Given the description of an element on the screen output the (x, y) to click on. 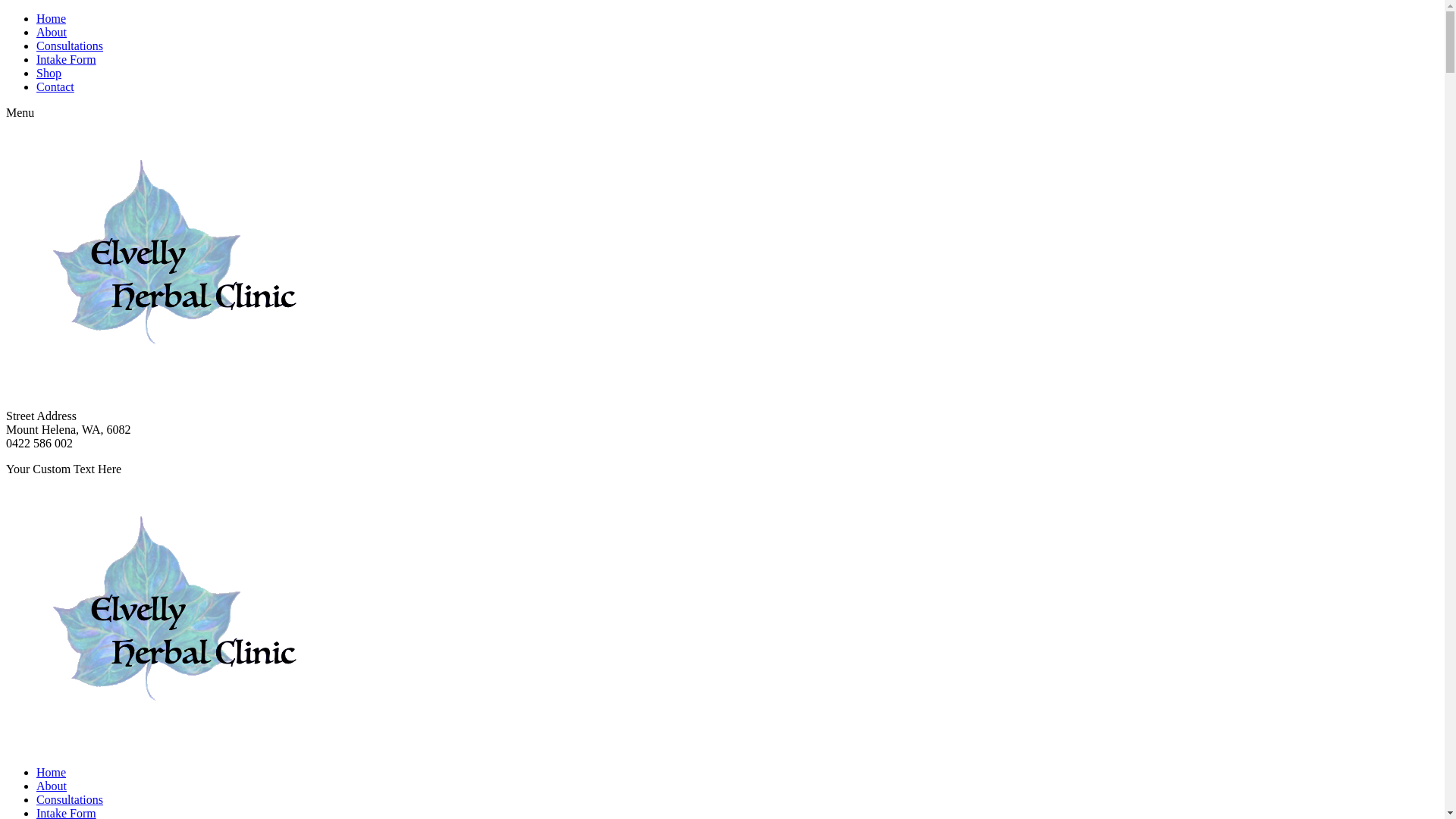
About Element type: text (51, 785)
Consultations Element type: text (69, 45)
Consultations Element type: text (69, 799)
Menu Element type: text (20, 112)
Contact Element type: text (55, 86)
Shop Element type: text (48, 72)
About Element type: text (51, 31)
Home Element type: text (50, 771)
Home Element type: text (50, 18)
Intake Form Element type: text (66, 59)
